Given the description of an element on the screen output the (x, y) to click on. 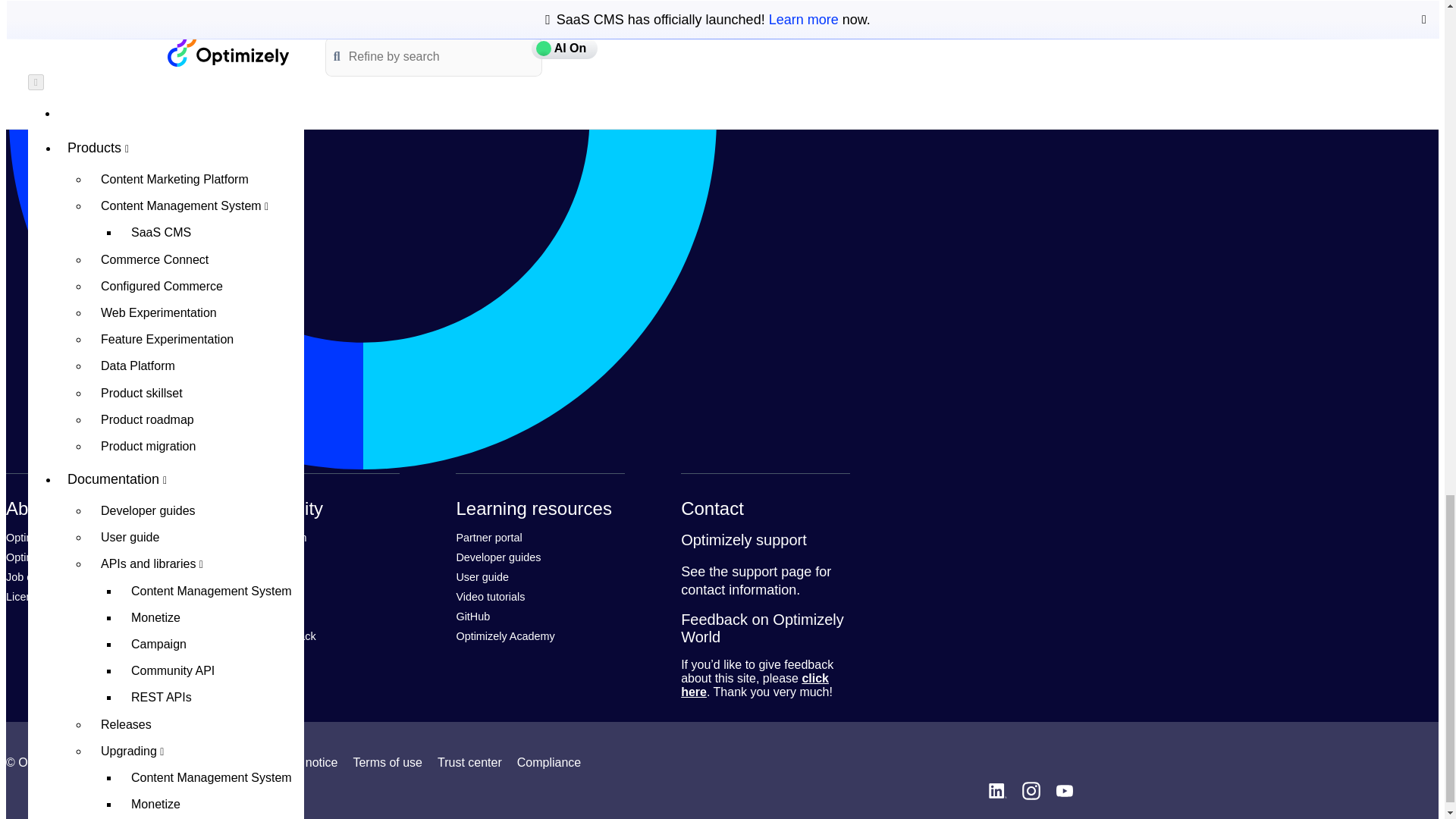
Episerver on GitHub (472, 616)
episerver.com (42, 537)
Developer guides (497, 557)
Job openings (38, 576)
Video tutorials (489, 596)
OMVP program (269, 537)
Blogs (245, 596)
Slack (244, 616)
Optimizely Certification (60, 557)
Forums (249, 576)
Optimizely User Guide (481, 576)
Optimizely Partner Portal (488, 537)
Optimizely Education Services (504, 635)
